Given the description of an element on the screen output the (x, y) to click on. 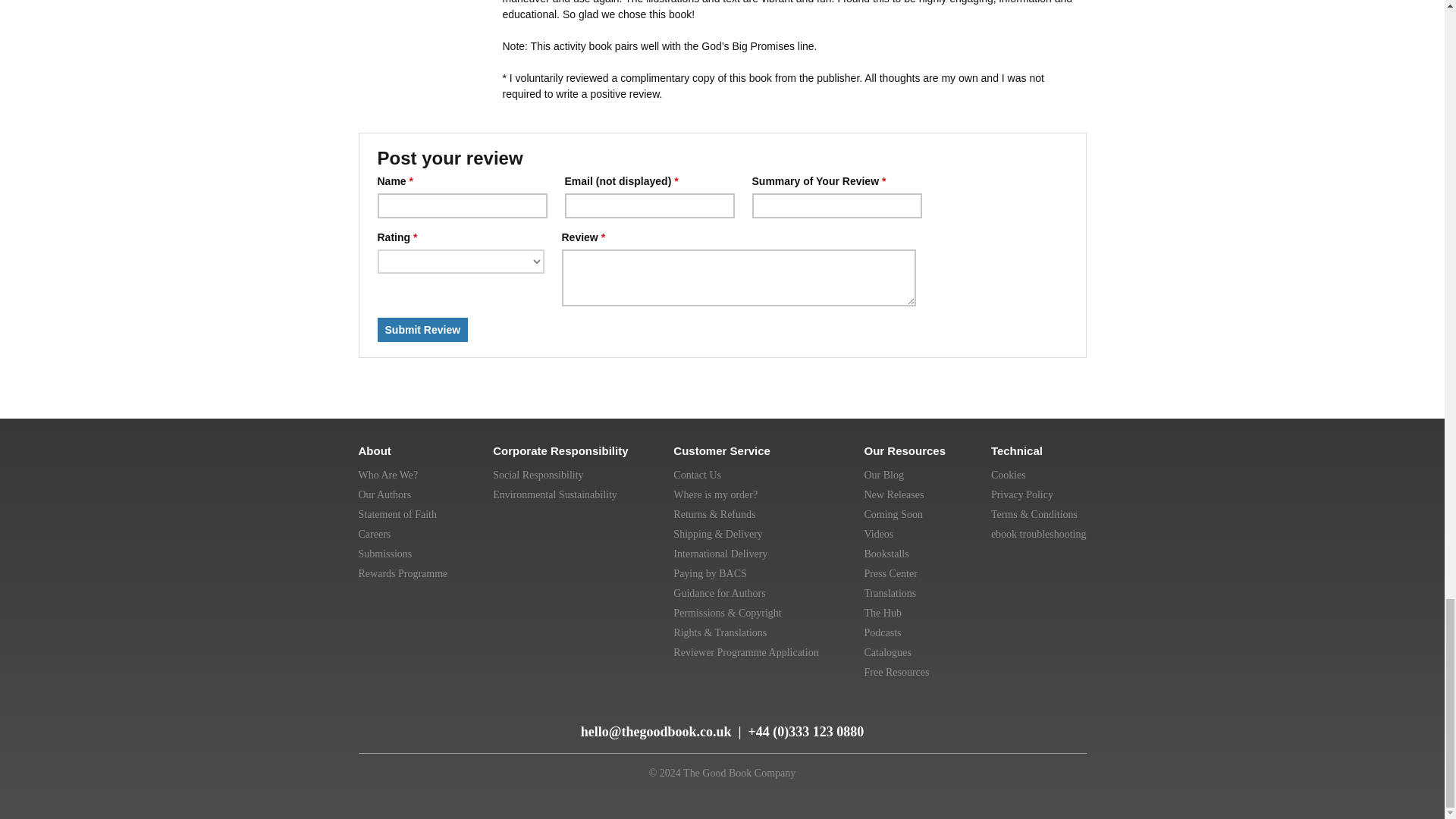
Go to US Website (972, 715)
Go to Australia Website (1006, 715)
Submit Review (422, 329)
Subscribe to feed (371, 725)
Go to New Zealand Website (1039, 715)
Go to South Africa Website (1071, 715)
Go to UK Website (937, 715)
